Given the description of an element on the screen output the (x, y) to click on. 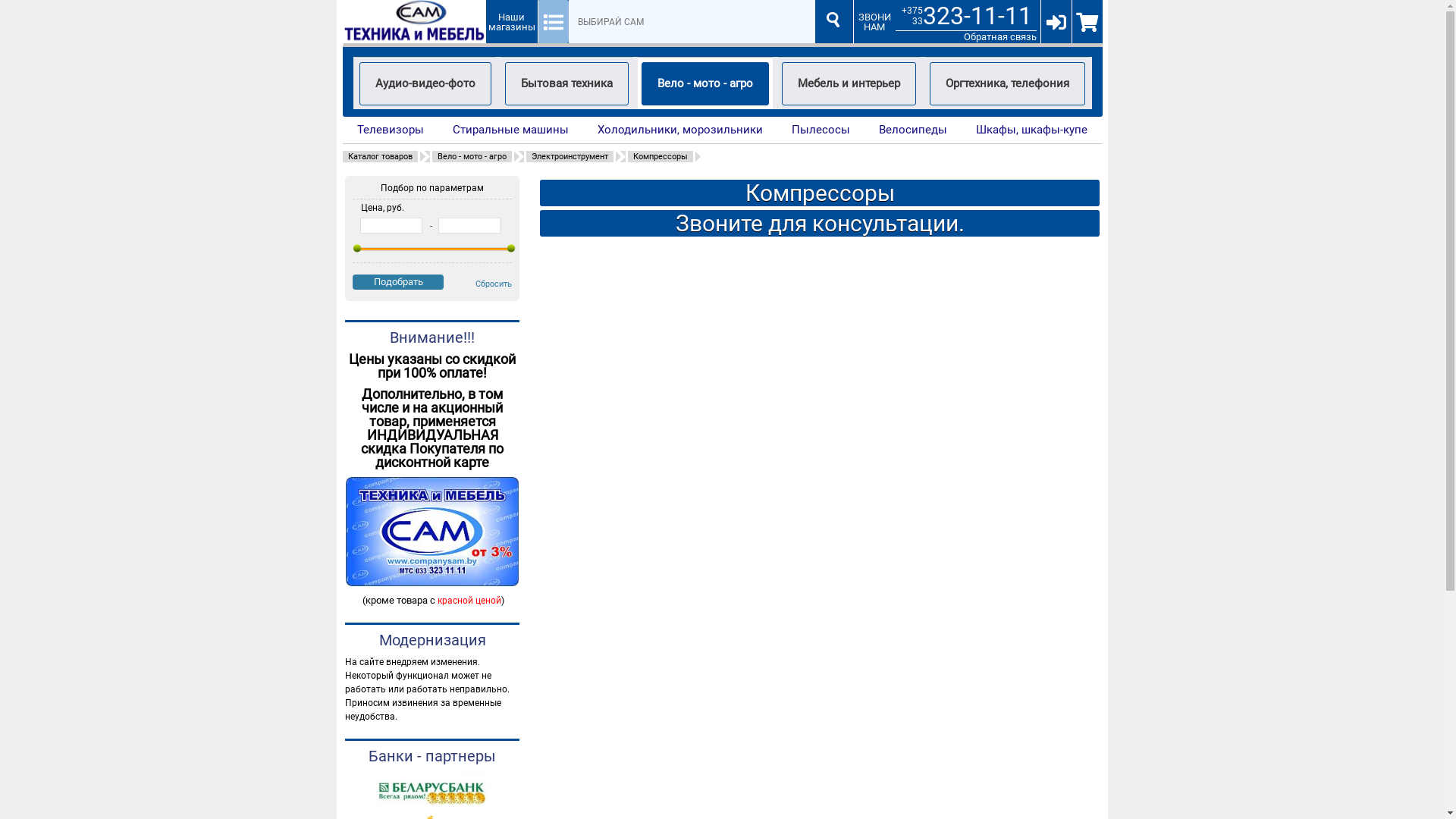
323-11-11 Element type: text (976, 15)
